Given the description of an element on the screen output the (x, y) to click on. 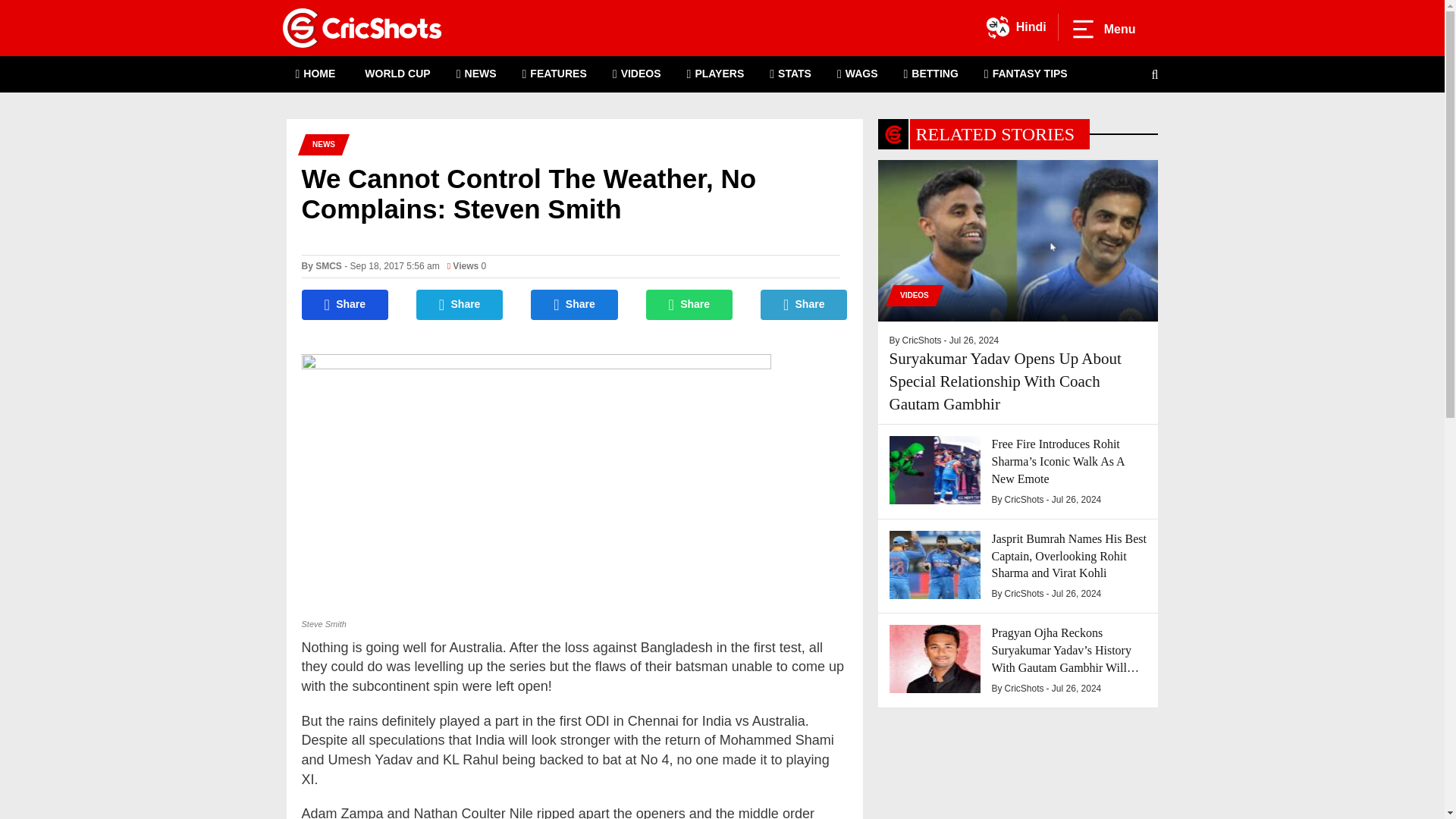
VIDEOS (909, 295)
Share (459, 304)
SMCS (328, 266)
WORLD CUP (395, 74)
BETTING (931, 74)
Share (689, 304)
NEWS (475, 74)
PLAYERS (716, 74)
Menu (1102, 29)
HOME (315, 74)
STATS (790, 74)
Share (574, 304)
VIDEOS (636, 74)
Share (344, 304)
